Given the description of an element on the screen output the (x, y) to click on. 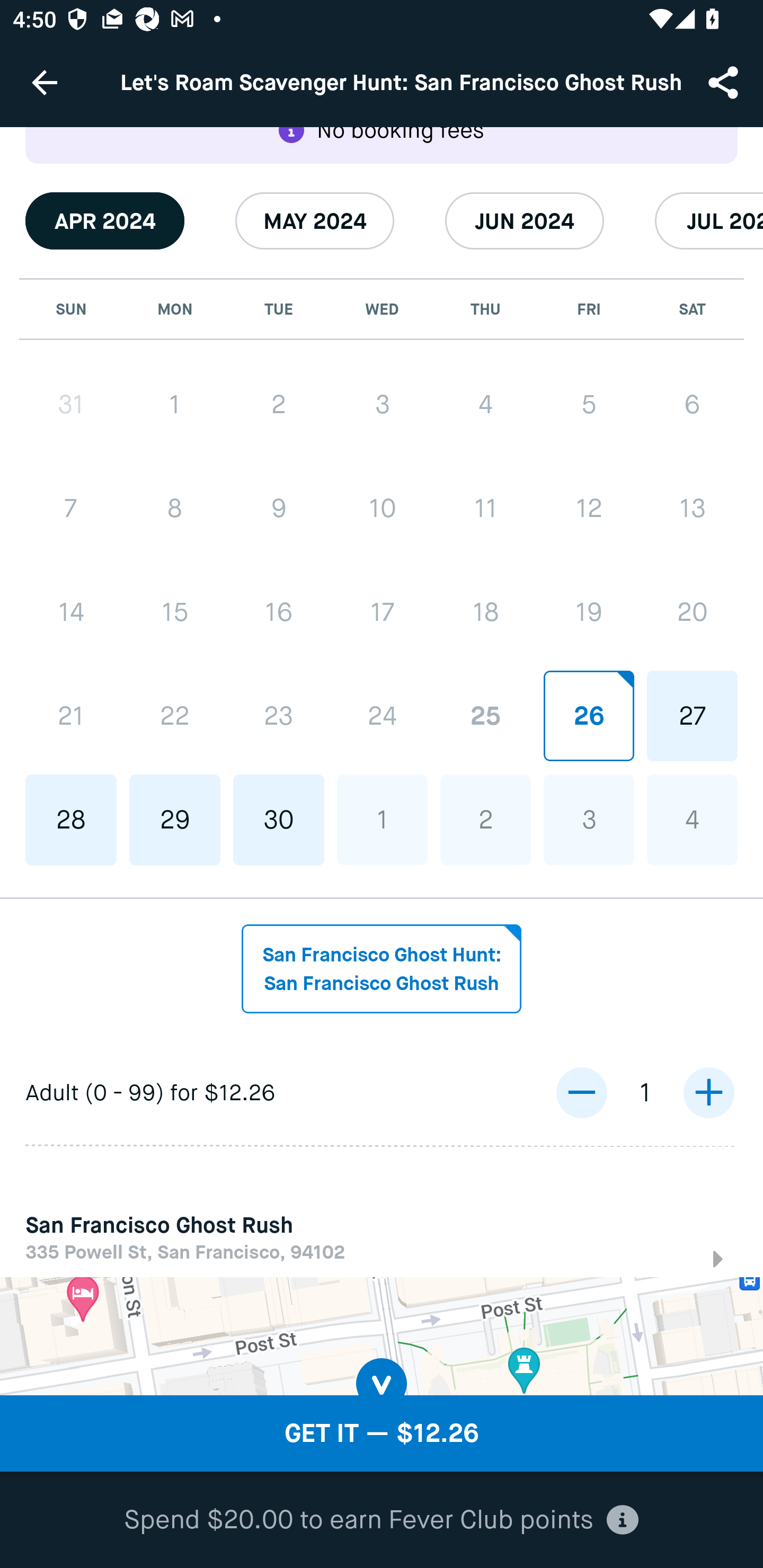
Navigate up (44, 82)
Share (724, 81)
APR 2024 (104, 220)
MAY 2024 (314, 220)
JUN 2024 (524, 220)
JUL 2024 (708, 220)
31 (70, 404)
1 (174, 404)
2 (278, 404)
3 (382, 404)
4 (485, 404)
5 (588, 404)
6 (692, 404)
7 (70, 507)
8 (174, 507)
9 (278, 507)
10 (382, 507)
11 (485, 507)
12 (588, 507)
13 (692, 507)
14 (70, 612)
15 (174, 612)
16 (278, 612)
17 (382, 611)
18 (485, 611)
19 (588, 611)
20 (692, 611)
21 (70, 716)
22 (174, 716)
23 (278, 716)
24 (382, 715)
25 (485, 715)
26 (588, 715)
27 (692, 715)
28 (70, 819)
29 (174, 819)
30 (278, 819)
1 (382, 819)
2 (485, 819)
3 (588, 819)
4 (692, 819)
San Francisco Ghost Hunt: San Francisco Ghost Rush (381, 968)
decrease (581, 1092)
increase (708, 1092)
Google Map Map Marker (381, 1336)
GET IT — $12.26 (381, 1433)
Spend $20.00 to earn Fever Club points (381, 1519)
